Given the description of an element on the screen output the (x, y) to click on. 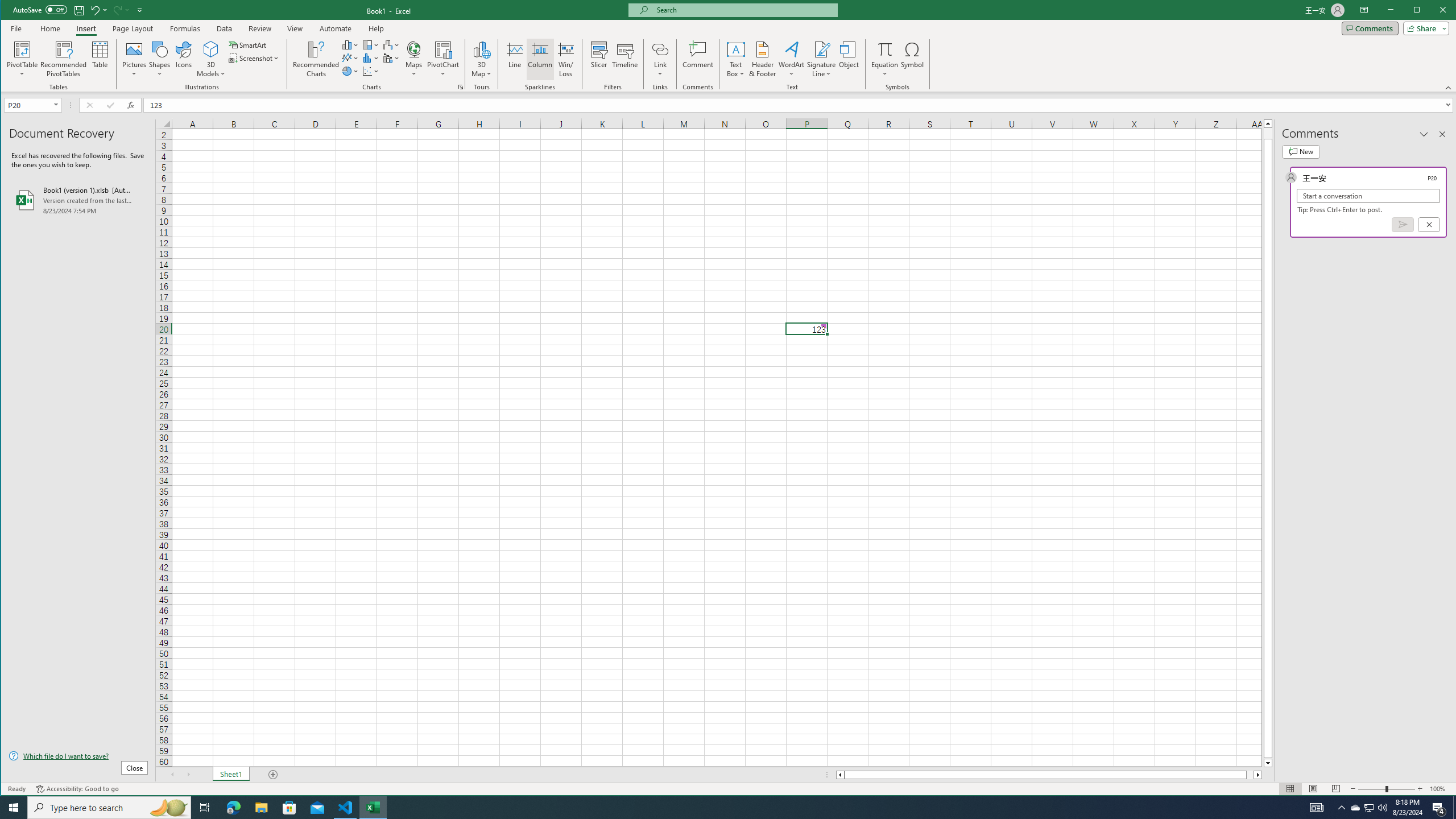
Insert Pie or Doughnut Chart (350, 70)
New comment (1300, 151)
PivotChart (443, 59)
Table (100, 59)
AutomationID: 4105 (1316, 807)
Class: MsoCommandBar (728, 45)
Equation (884, 59)
WordArt (791, 59)
